Given the description of an element on the screen output the (x, y) to click on. 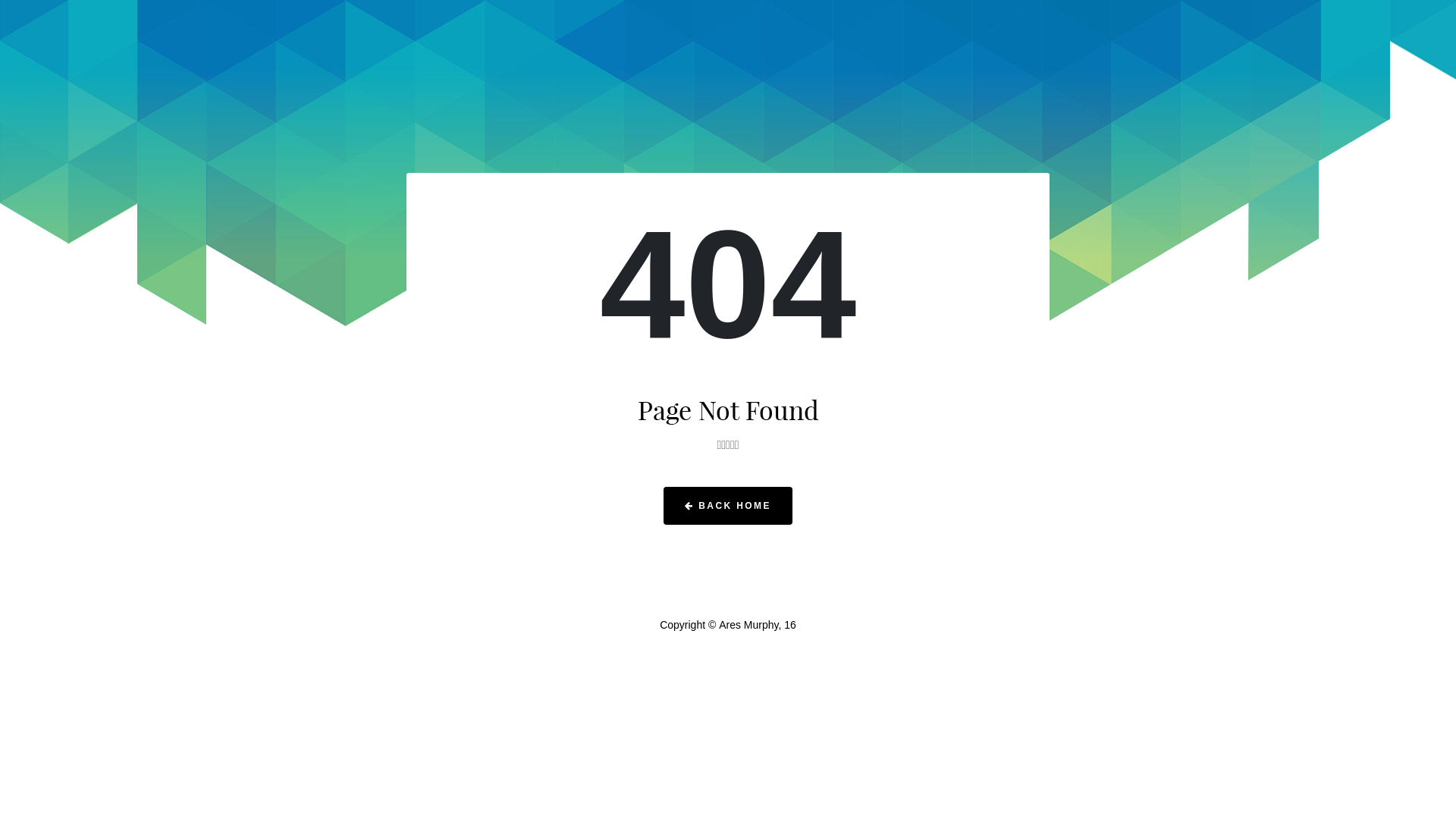
Ares Murphy, 16 Element type: text (757, 624)
BACK HOME Element type: text (727, 505)
